Given the description of an element on the screen output the (x, y) to click on. 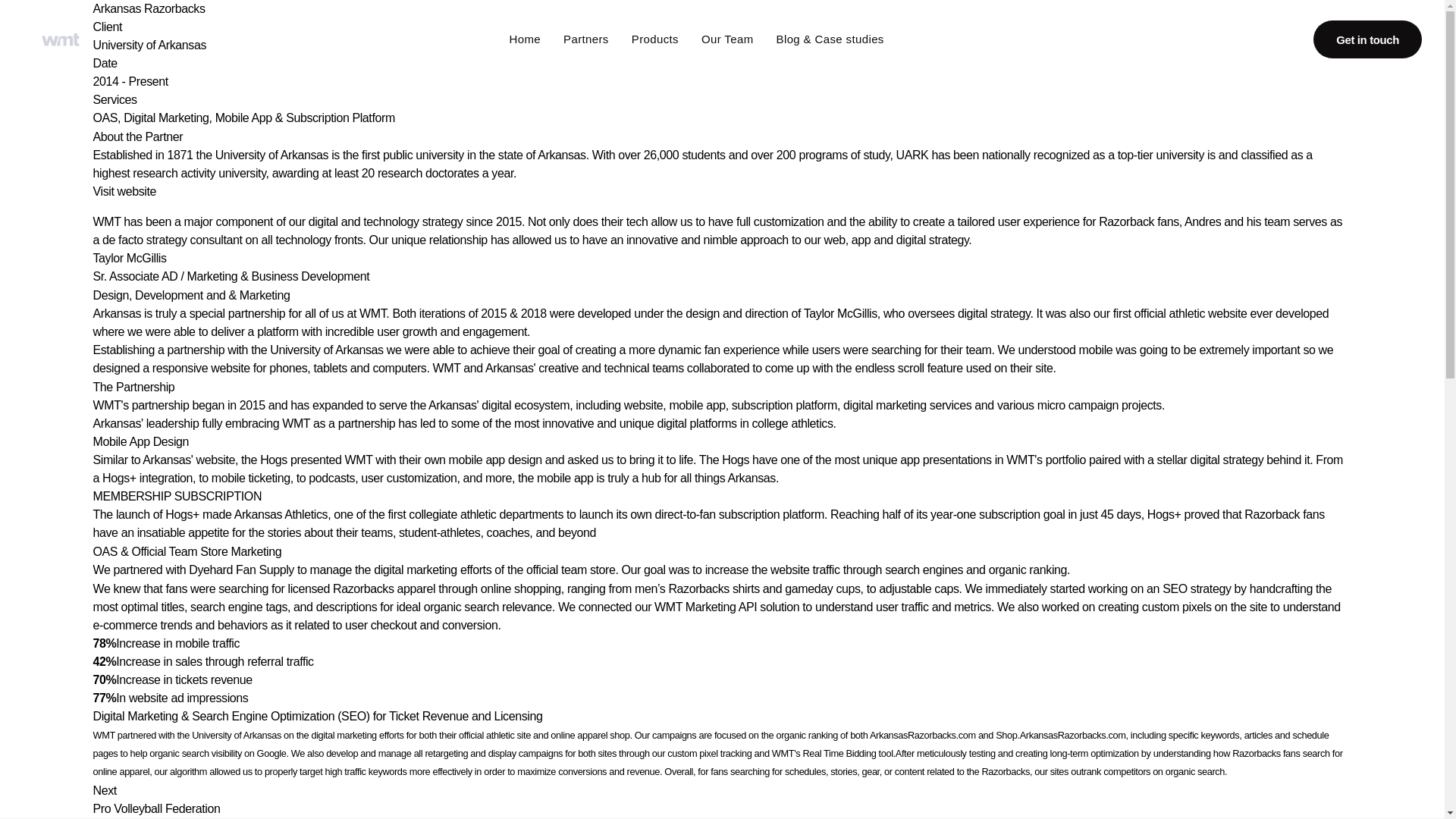
Visit website (722, 198)
Home (525, 39)
Pro Volleyball Federation (156, 808)
Partners (585, 39)
Get in touch (1367, 39)
Our Team (727, 39)
